Given the description of an element on the screen output the (x, y) to click on. 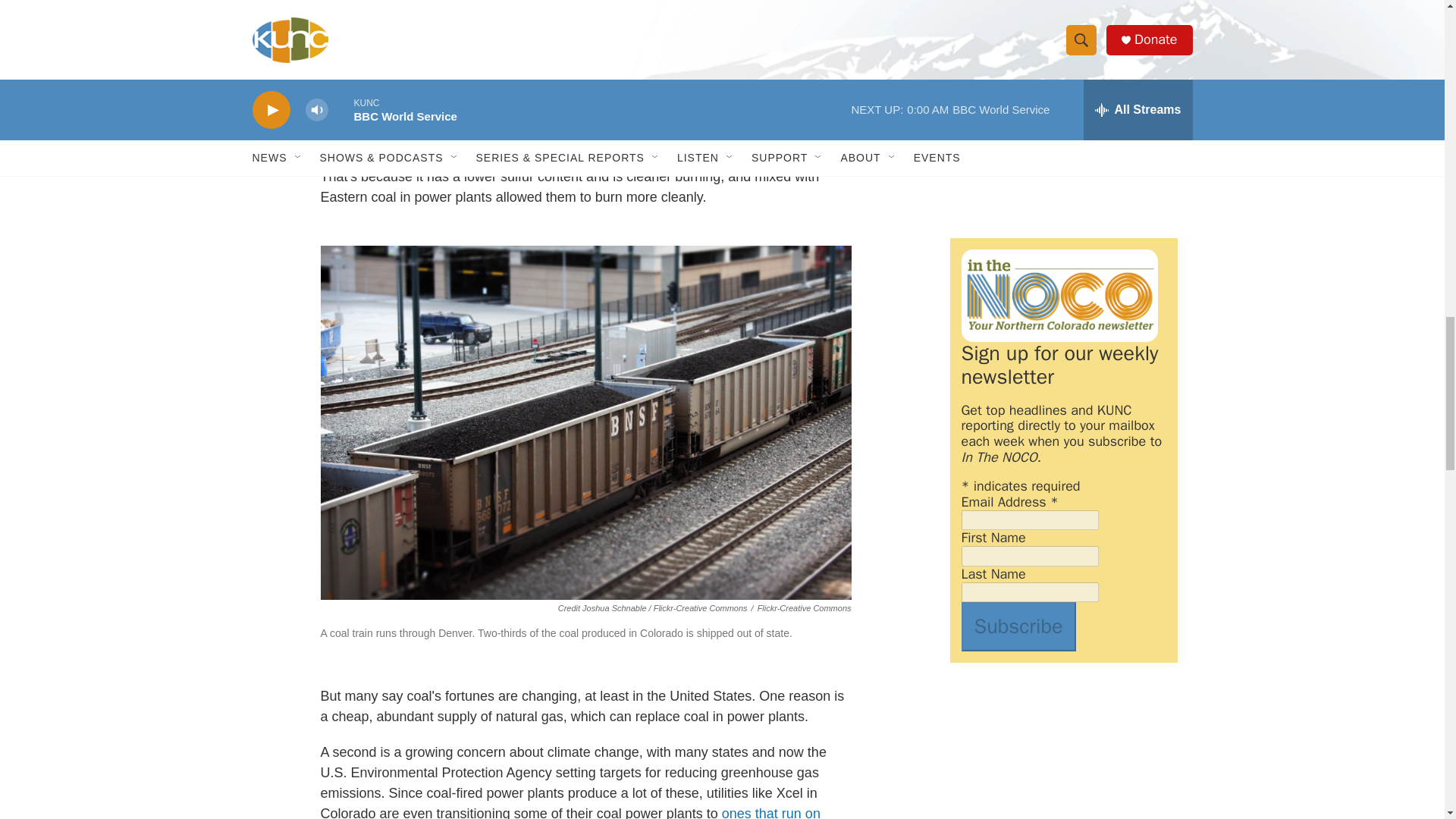
3rd party ad content (1062, 113)
Subscribe (1017, 626)
